Given the description of an element on the screen output the (x, y) to click on. 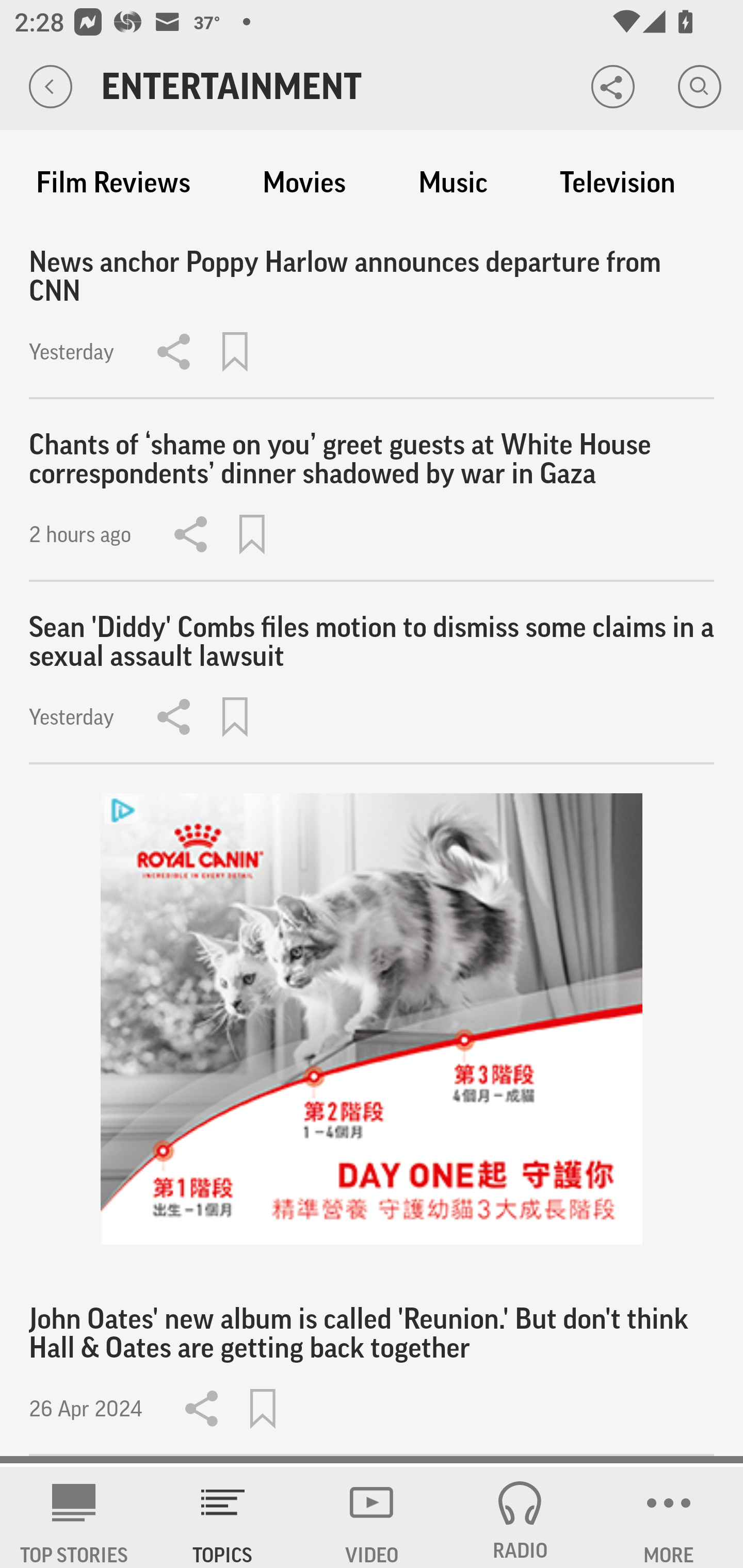
Film Reviews (112, 182)
Movies (304, 182)
Music (452, 182)
Television (617, 182)
ooulh2nc_300x250 (371, 1018)
AP News TOP STORIES (74, 1517)
TOPICS (222, 1517)
VIDEO (371, 1517)
RADIO (519, 1517)
MORE (668, 1517)
